Given the description of an element on the screen output the (x, y) to click on. 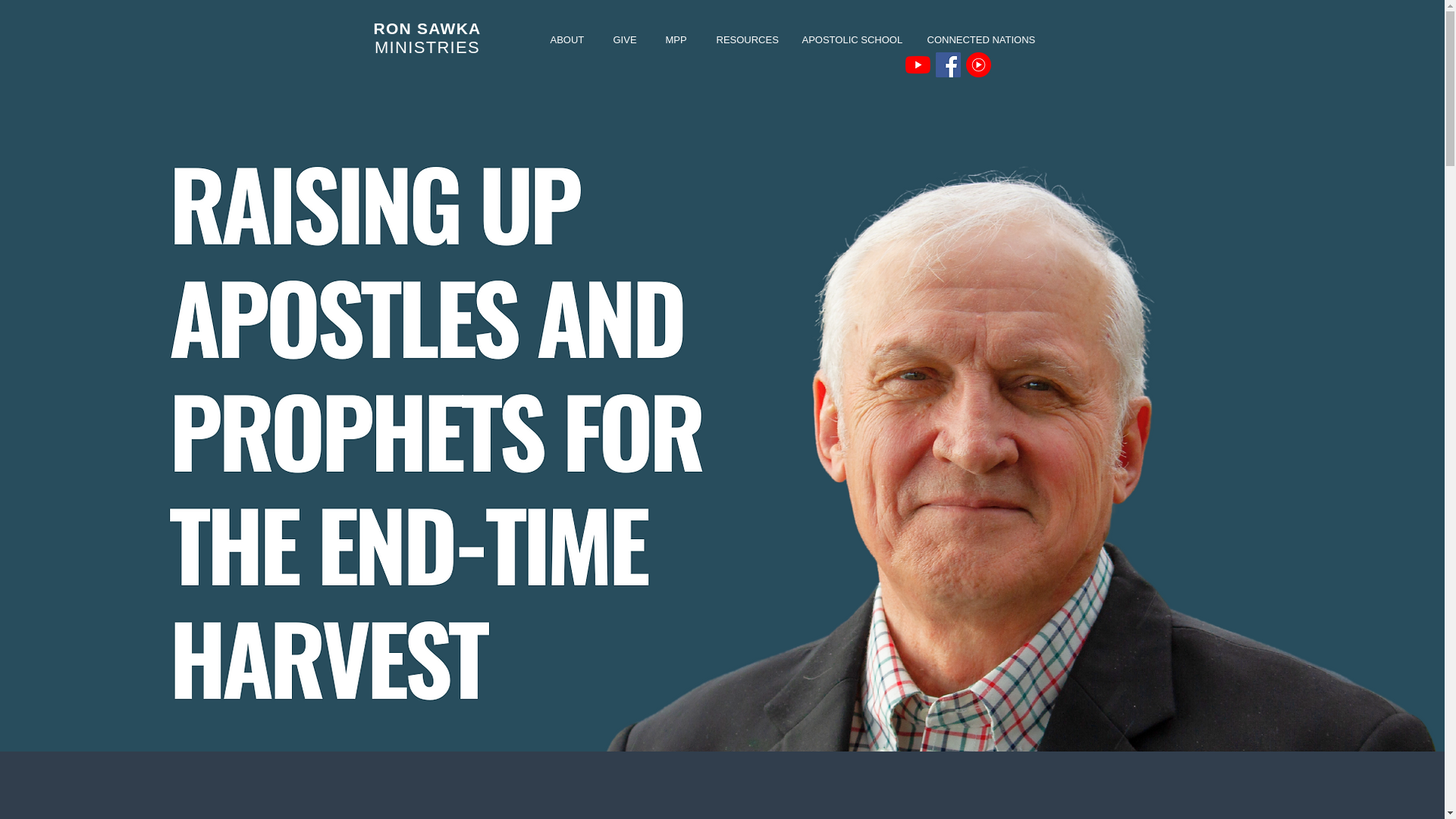
GIVE (622, 39)
RESOURCES (743, 39)
RON SAWKA (426, 27)
CONNECTED NATIONS (976, 39)
MPP (675, 39)
MINISTRIES (427, 46)
APOSTOLIC SCHOOL (849, 39)
ABOUT (566, 39)
